Given the description of an element on the screen output the (x, y) to click on. 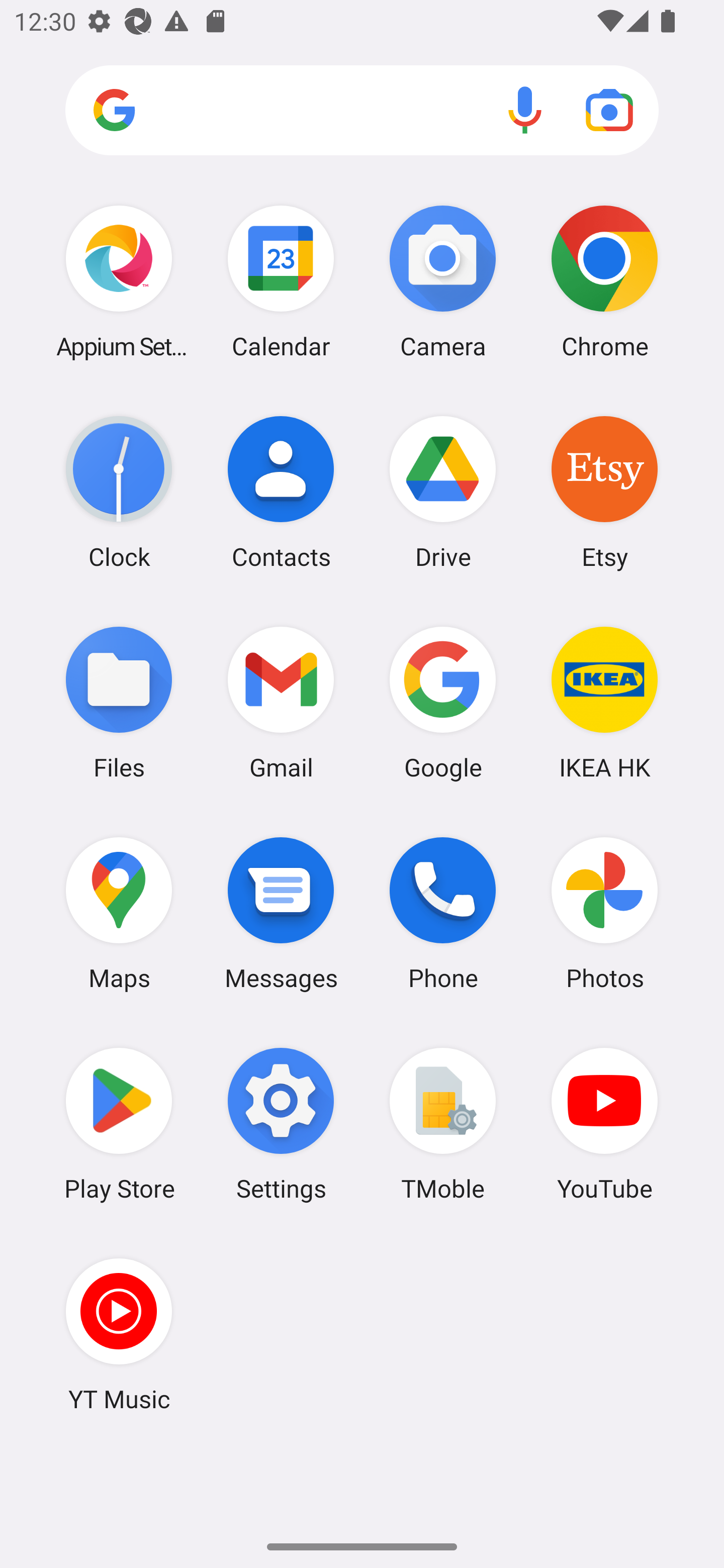
Search apps, web and more (361, 110)
Voice search (524, 109)
Google Lens (608, 109)
Appium Settings (118, 281)
Calendar (280, 281)
Camera (443, 281)
Chrome (604, 281)
Clock (118, 492)
Contacts (280, 492)
Drive (443, 492)
Etsy (604, 492)
Files (118, 702)
Gmail (280, 702)
Google (443, 702)
IKEA HK (604, 702)
Maps (118, 913)
Messages (280, 913)
Phone (443, 913)
Photos (604, 913)
Play Store (118, 1124)
Settings (280, 1124)
TMoble (443, 1124)
YouTube (604, 1124)
YT Music (118, 1334)
